Given the description of an element on the screen output the (x, y) to click on. 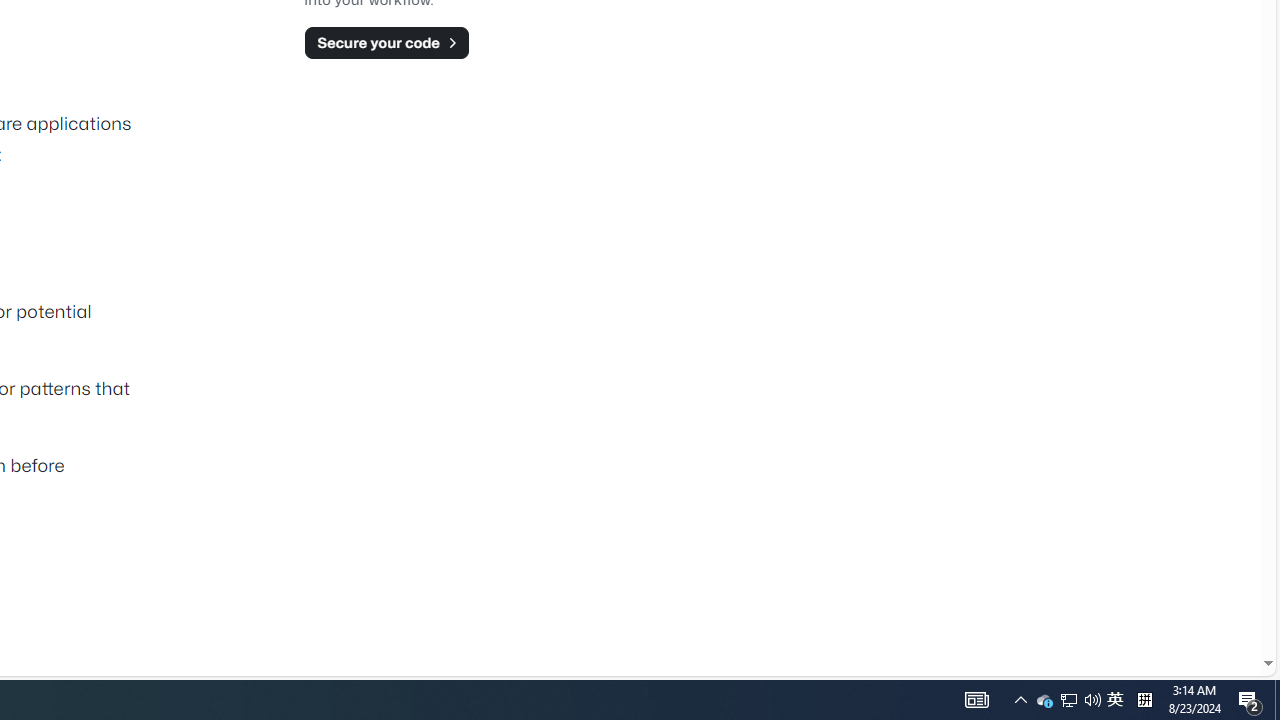
Secure your code (386, 42)
